Given the description of an element on the screen output the (x, y) to click on. 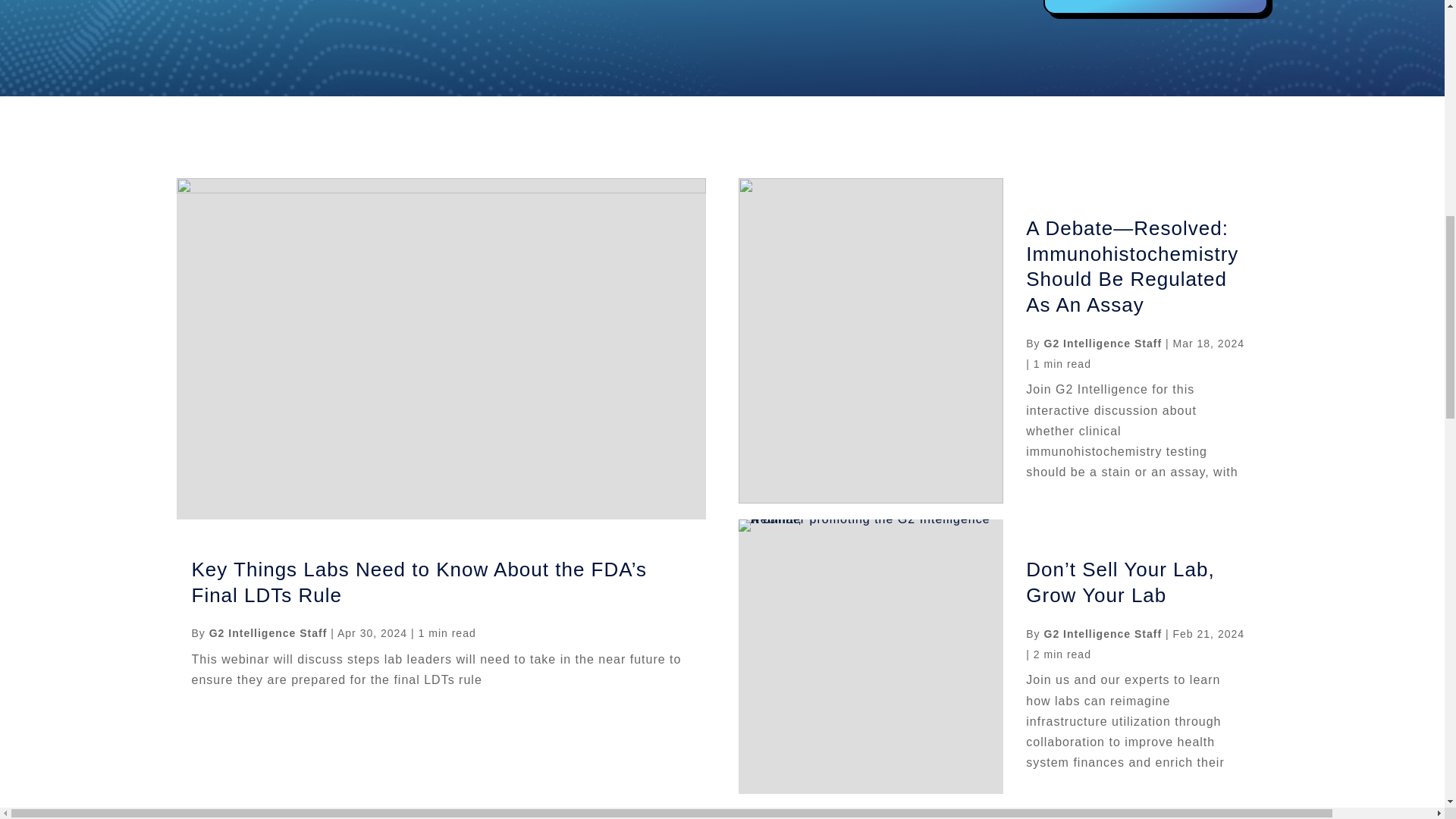
START YOUR FREE TRIAL (1155, 7)
Posts by G2 Intelligence Staff (1102, 343)
Posts by G2 Intelligence Staff (268, 633)
Posts by G2 Intelligence Staff (1102, 633)
G2 Intelligence Staff (268, 633)
